Given the description of an element on the screen output the (x, y) to click on. 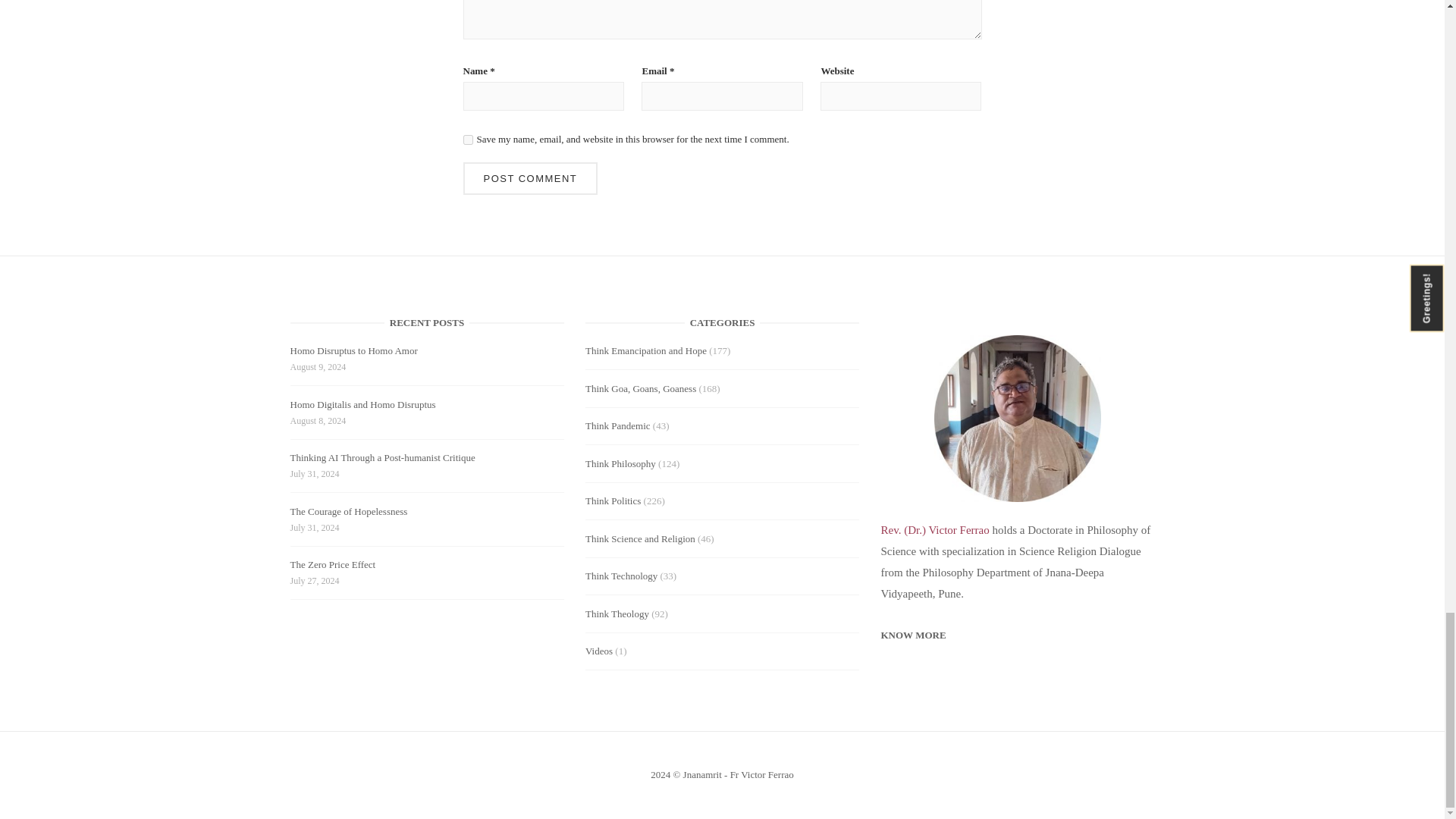
The Zero Price Effect (332, 566)
Think Science and Religion (640, 538)
Think Goa, Goans, Goaness (640, 388)
Homo Disruptus to Homo Amor (352, 352)
Think Pandemic (617, 425)
yes (467, 139)
Thinking AI Through a Post-humanist Critique (381, 460)
Think Philosophy (620, 463)
Post Comment (529, 178)
The Courage of Hopelessness (348, 514)
